Given the description of an element on the screen output the (x, y) to click on. 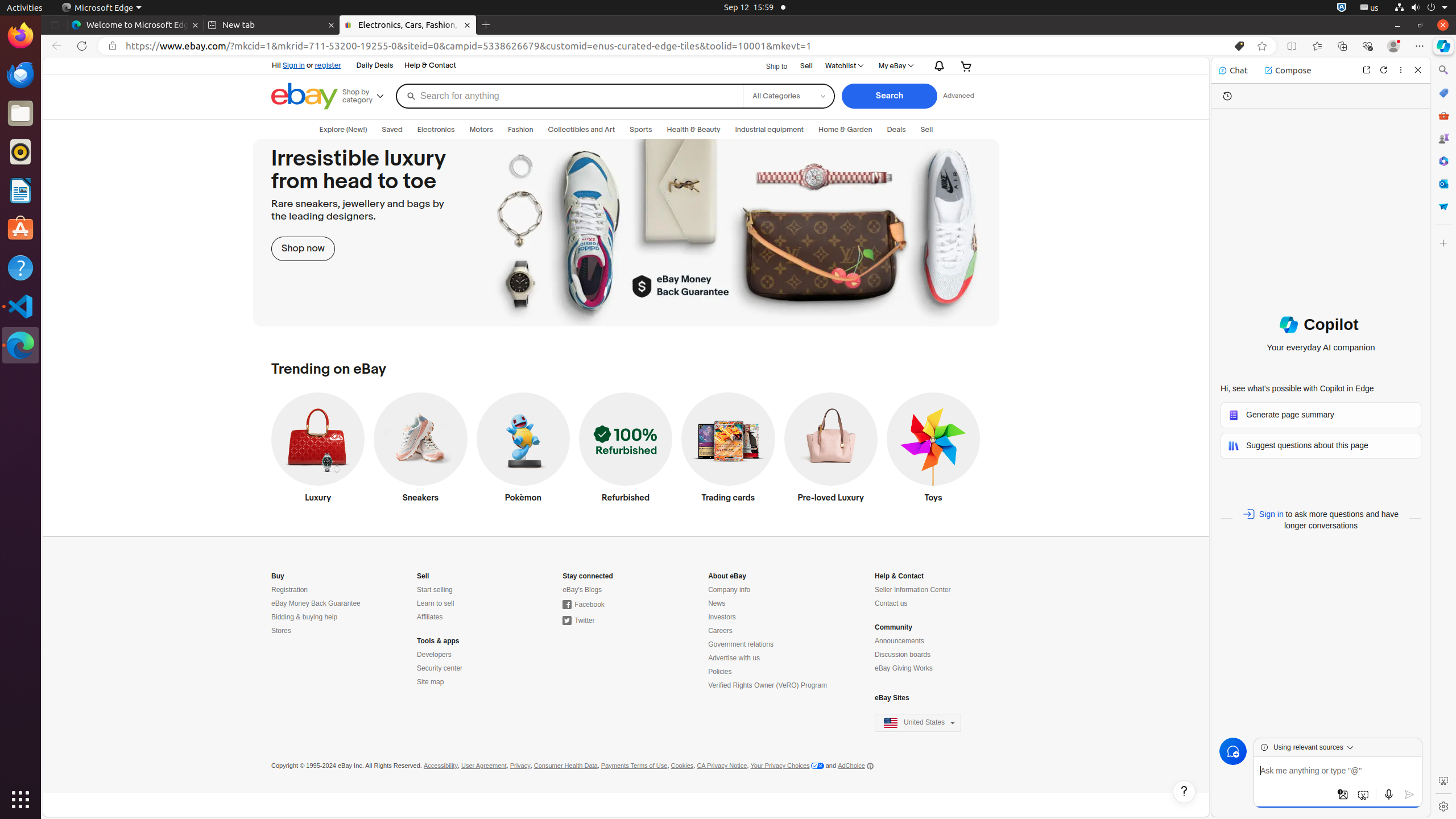
New tab Element type: page-tab (271, 25)
Seller Information Center Element type: link (912, 589)
Facebook Element type: link (583, 604)
Ubuntu Software Element type: push-button (20, 229)
Load chat history Element type: push-button (1227, 95)
